Given the description of an element on the screen output the (x, y) to click on. 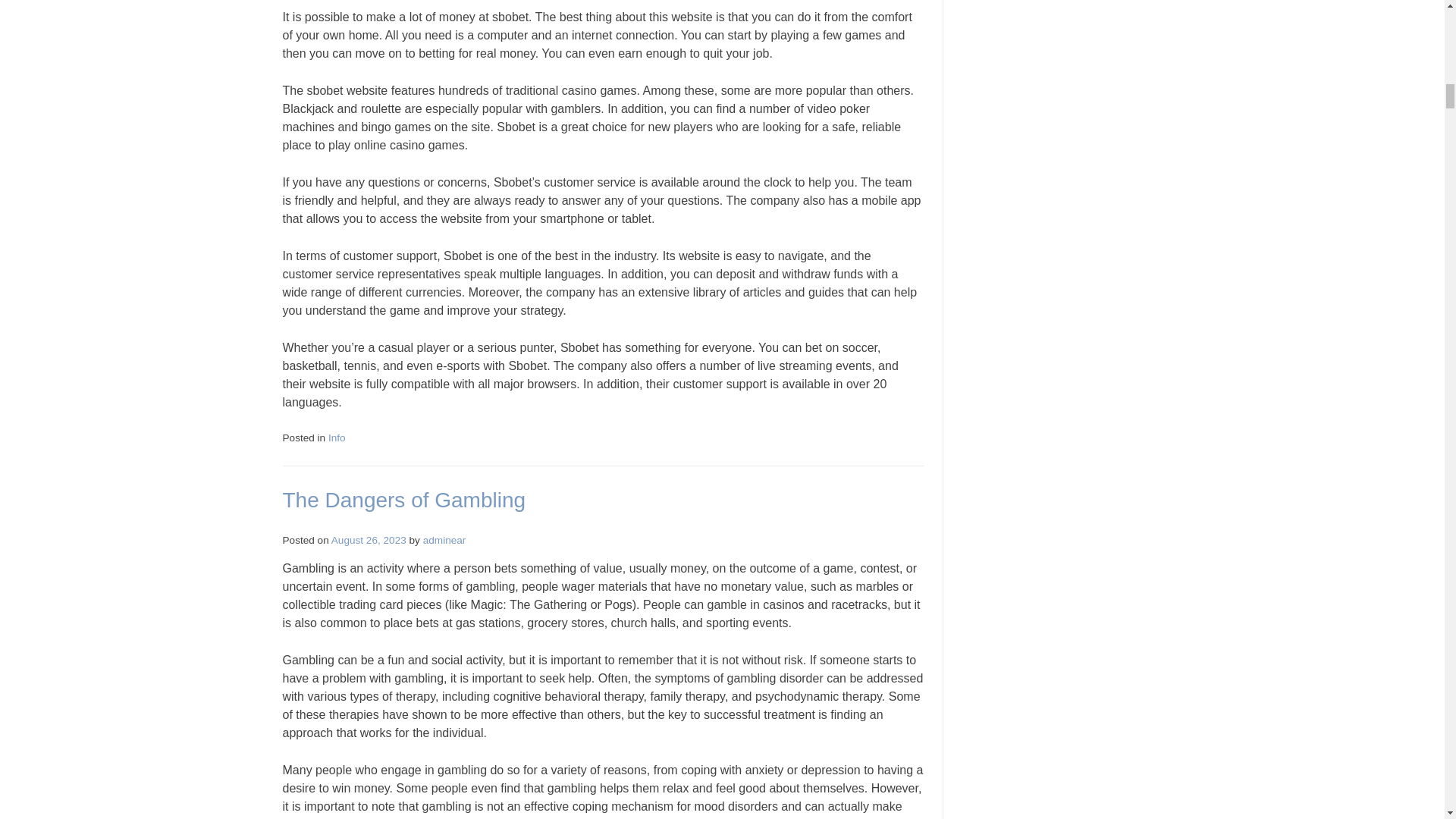
The Dangers of Gambling (403, 499)
August 26, 2023 (368, 540)
adminear (444, 540)
Info (337, 437)
